Given the description of an element on the screen output the (x, y) to click on. 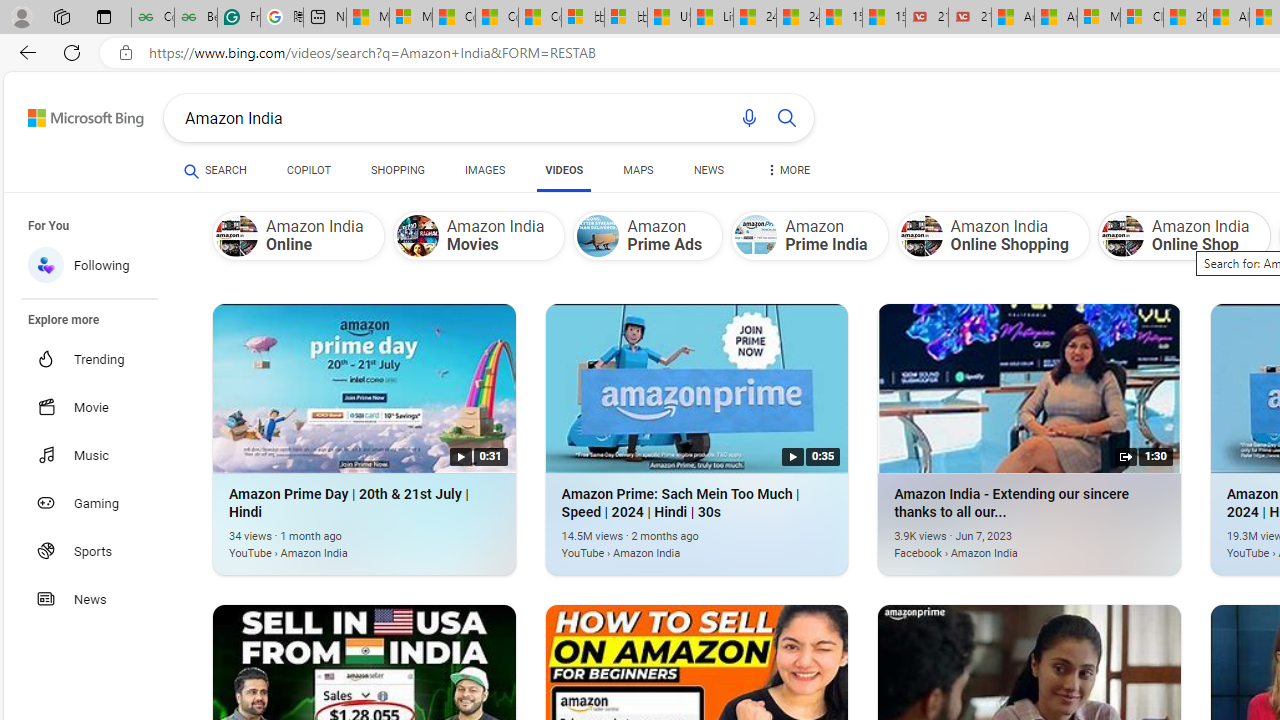
Back to Bing search (73, 113)
SEARCH (215, 170)
USA TODAY - MSN (668, 17)
MAPS (637, 173)
NEWS (708, 173)
Amazon Prime India (756, 236)
